Given the description of an element on the screen output the (x, y) to click on. 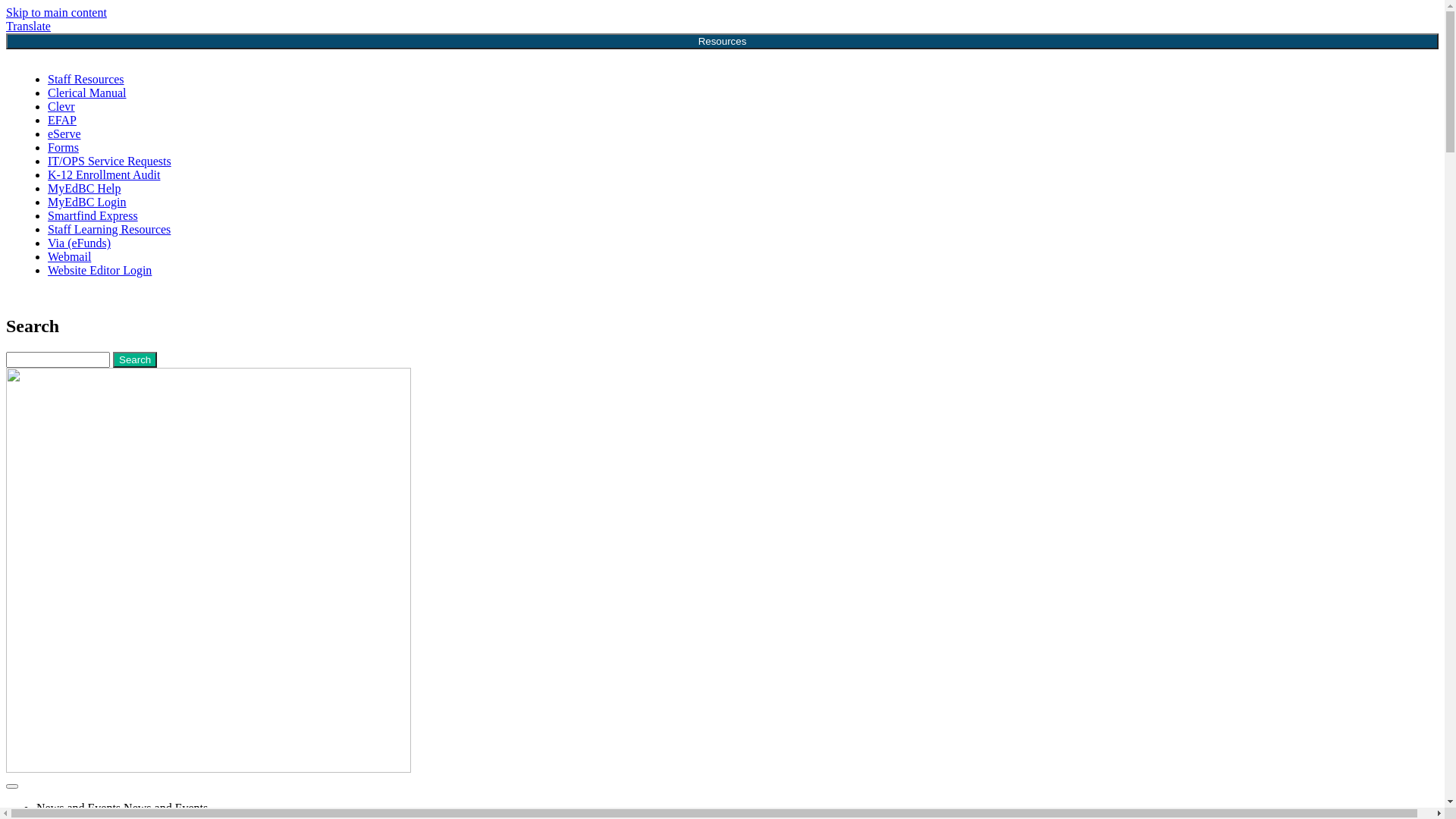
Skip to main content Element type: text (56, 12)
Webmail Element type: text (69, 256)
eServe Element type: text (64, 133)
EFAP Element type: text (61, 119)
Search Element type: text (134, 359)
K-12 Enrollment Audit Element type: text (103, 174)
Enter the terms you wish to search for. Element type: hover (57, 359)
Resources Element type: text (722, 41)
Forms Element type: text (62, 147)
MyEdBC Help Element type: text (83, 188)
Website Editor Login Element type: text (99, 269)
Via (eFunds) Element type: text (78, 242)
Smartfind Express Element type: text (92, 215)
IT/OPS Service Requests Element type: text (109, 160)
Clerical Manual Element type: text (86, 92)
Staff Learning Resources Element type: text (108, 228)
Staff Resources Element type: text (85, 78)
Translate Element type: text (28, 25)
Clevr Element type: text (61, 106)
MyEdBC Login Element type: text (86, 201)
